Given the description of an element on the screen output the (x, y) to click on. 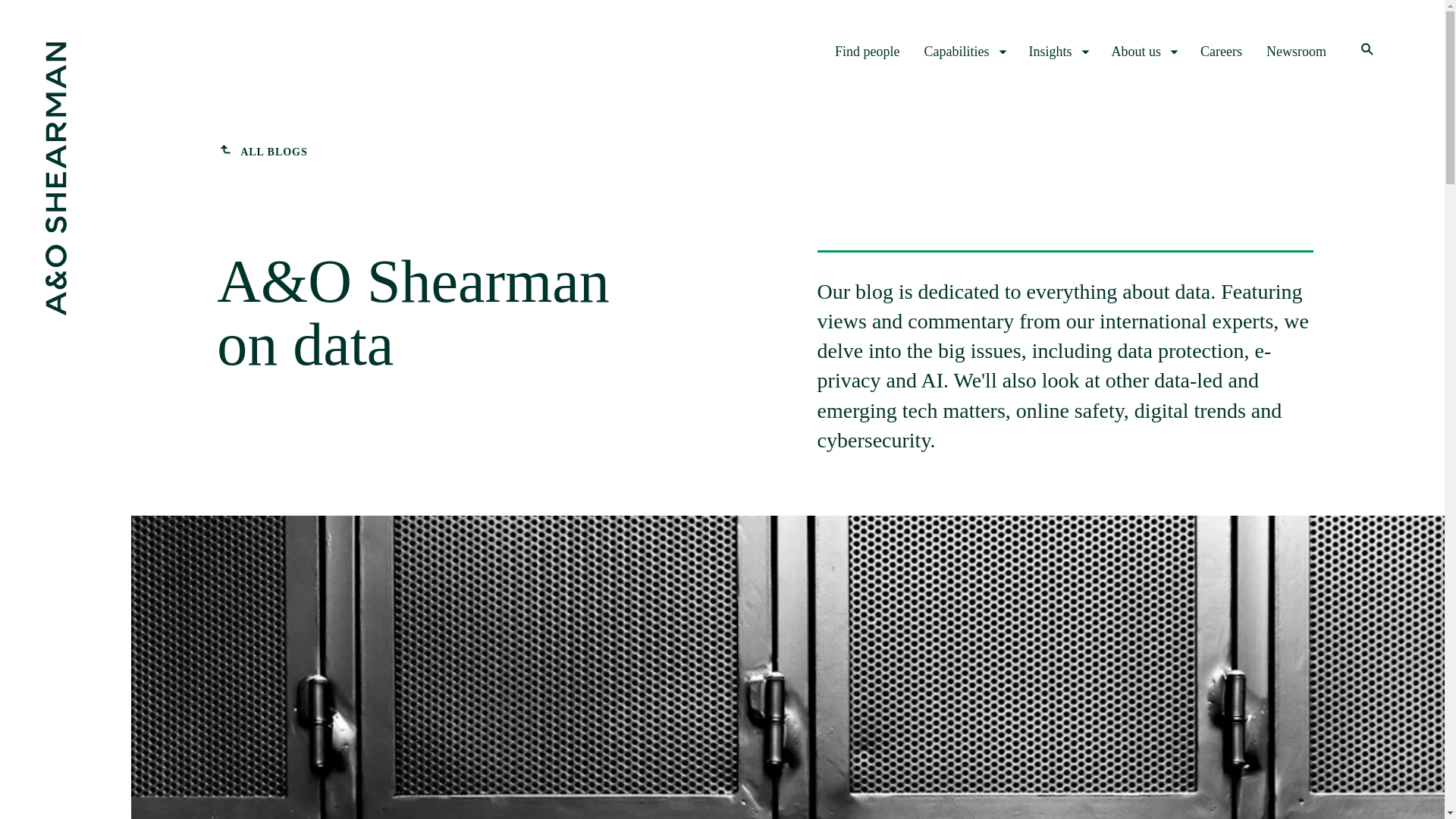
Careers (1220, 51)
Capabilities (964, 51)
Find people (866, 51)
Newsroom (1296, 51)
Insights (1056, 51)
About us (1144, 51)
ALL BLOGS (261, 152)
